Given the description of an element on the screen output the (x, y) to click on. 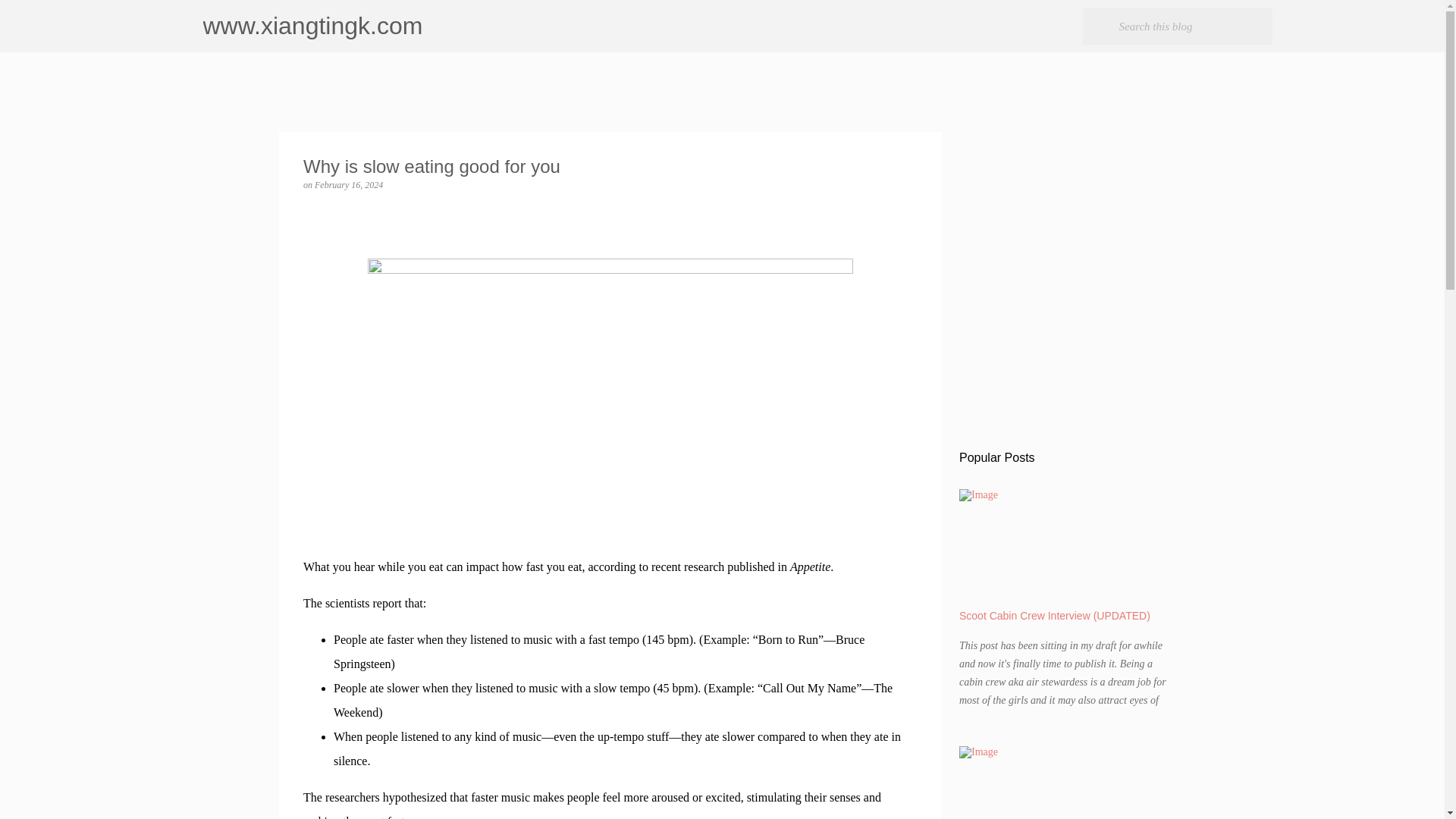
permanent link (348, 184)
February 16, 2024 (348, 184)
www.xiangtingk.com (313, 25)
